Given the description of an element on the screen output the (x, y) to click on. 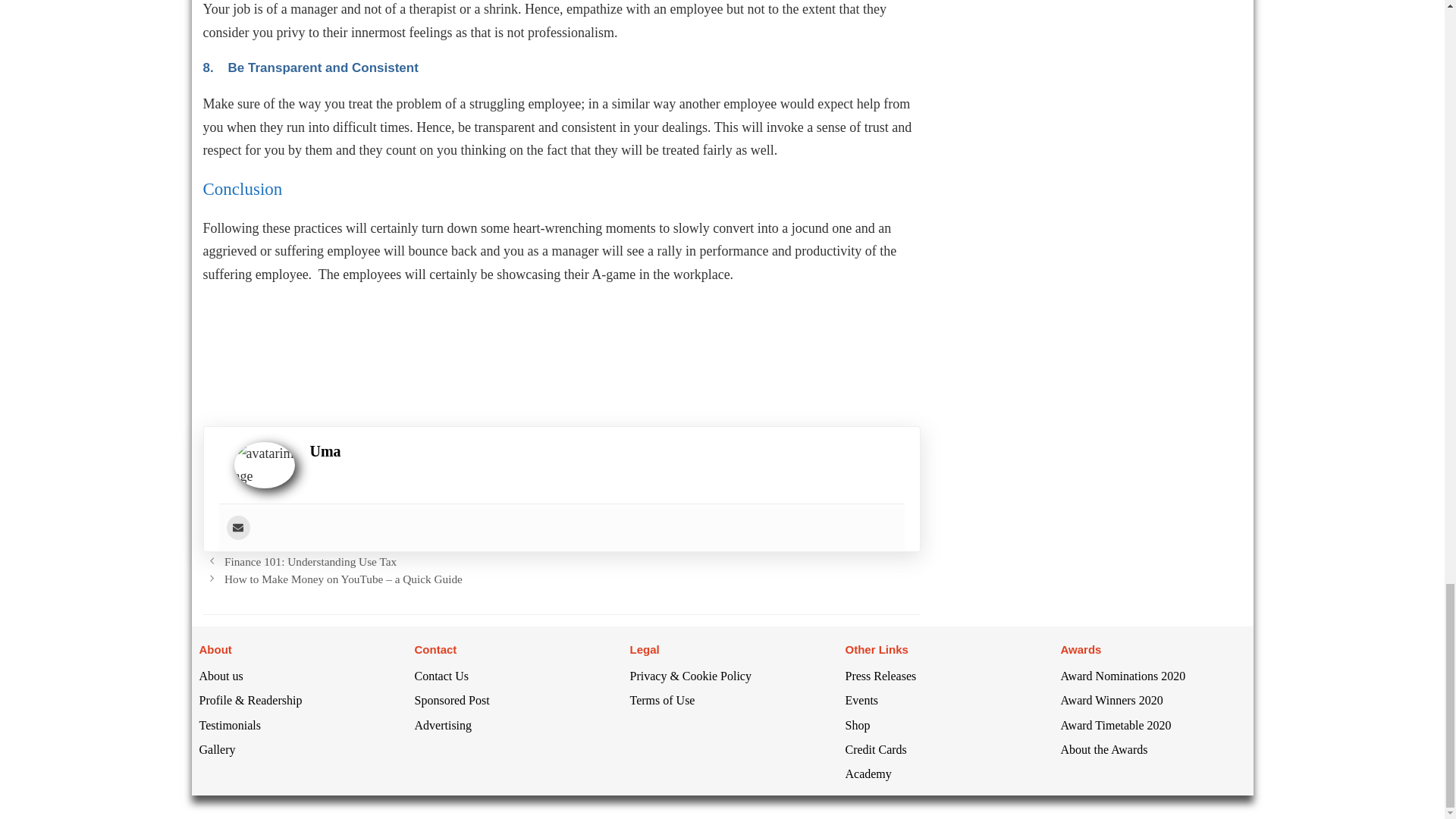
Share on Twitter (261, 363)
Share on Xing (384, 363)
About us (220, 675)
Finance 101: Understanding Use Tax (310, 561)
Share on Facebook (220, 363)
Share on Linkedin (301, 363)
Share on Pinterest (343, 363)
User email (236, 527)
Share on Reddit (426, 363)
Uma (324, 451)
